Given the description of an element on the screen output the (x, y) to click on. 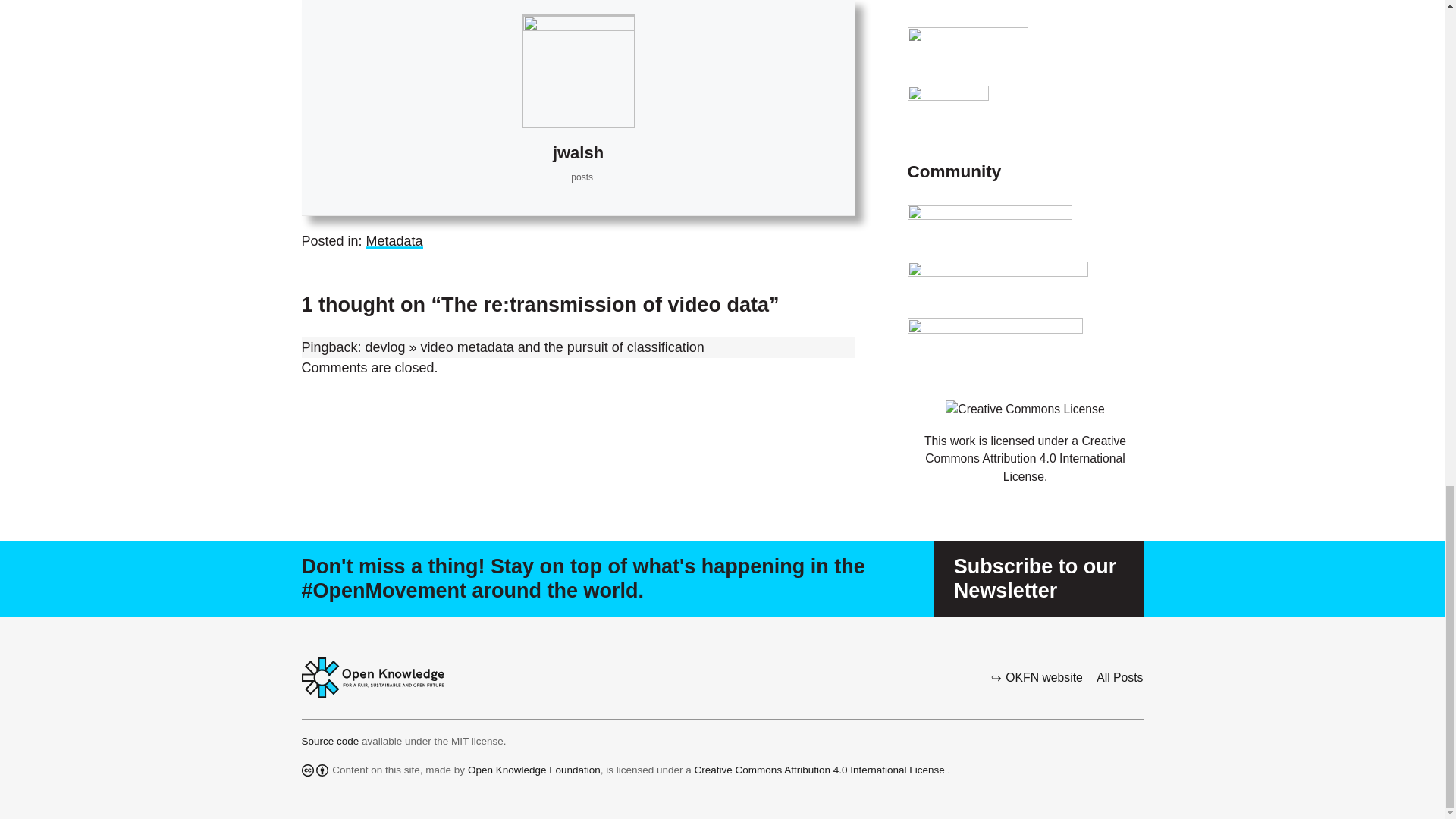
by (322, 770)
Site source code (331, 740)
Metadata (394, 240)
cc (307, 770)
jwalsh (578, 152)
